Given the description of an element on the screen output the (x, y) to click on. 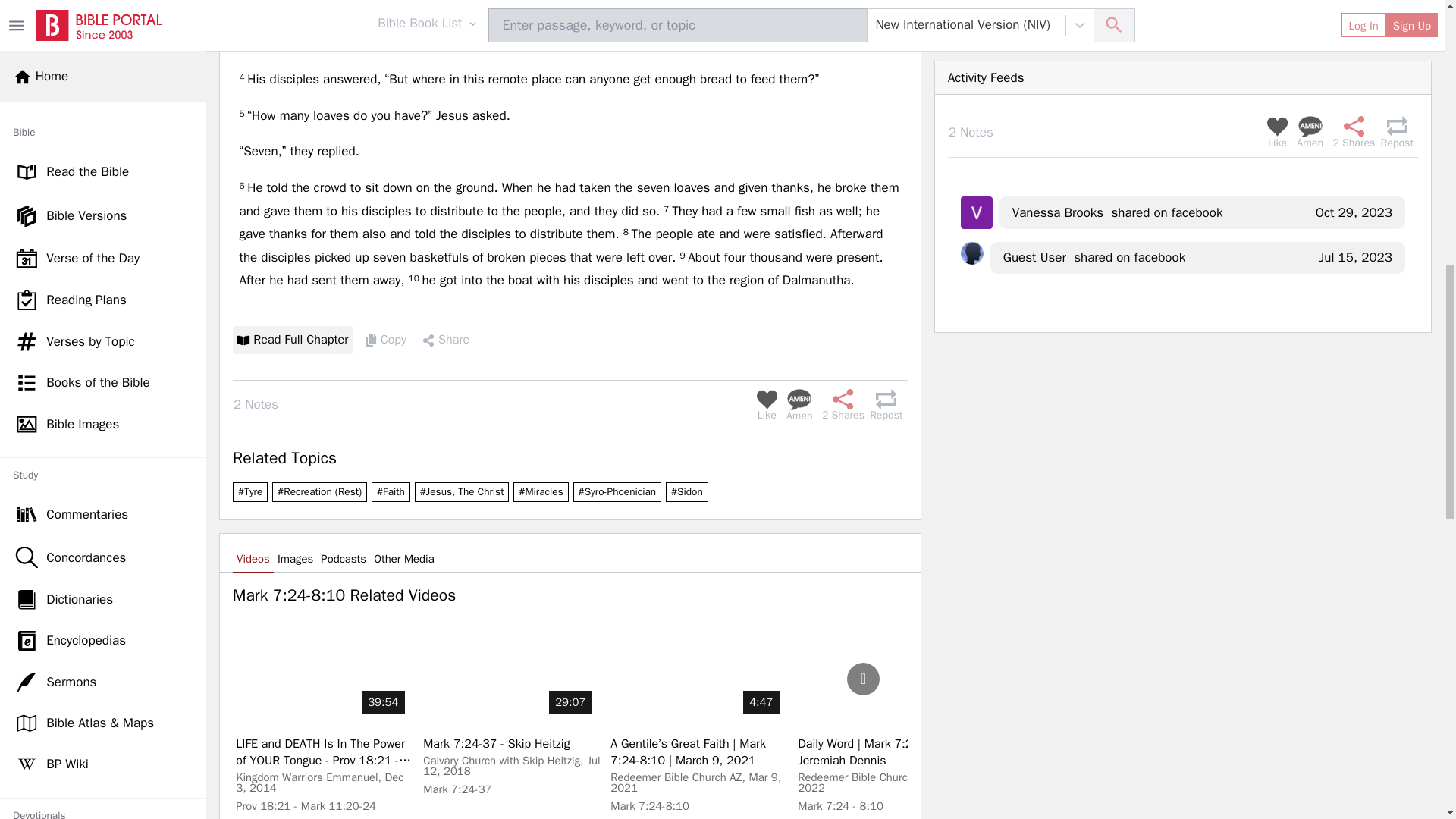
Inspirational Quotes (103, 158)
All Devotionals (103, 116)
Picture Quotes (103, 247)
Bible Stories (103, 579)
Daily Bread (103, 496)
Videos (103, 288)
Random Bible Verse (103, 620)
Bible Study (103, 372)
Light of the World (103, 75)
Inspirational (103, 329)
